Given the description of an element on the screen output the (x, y) to click on. 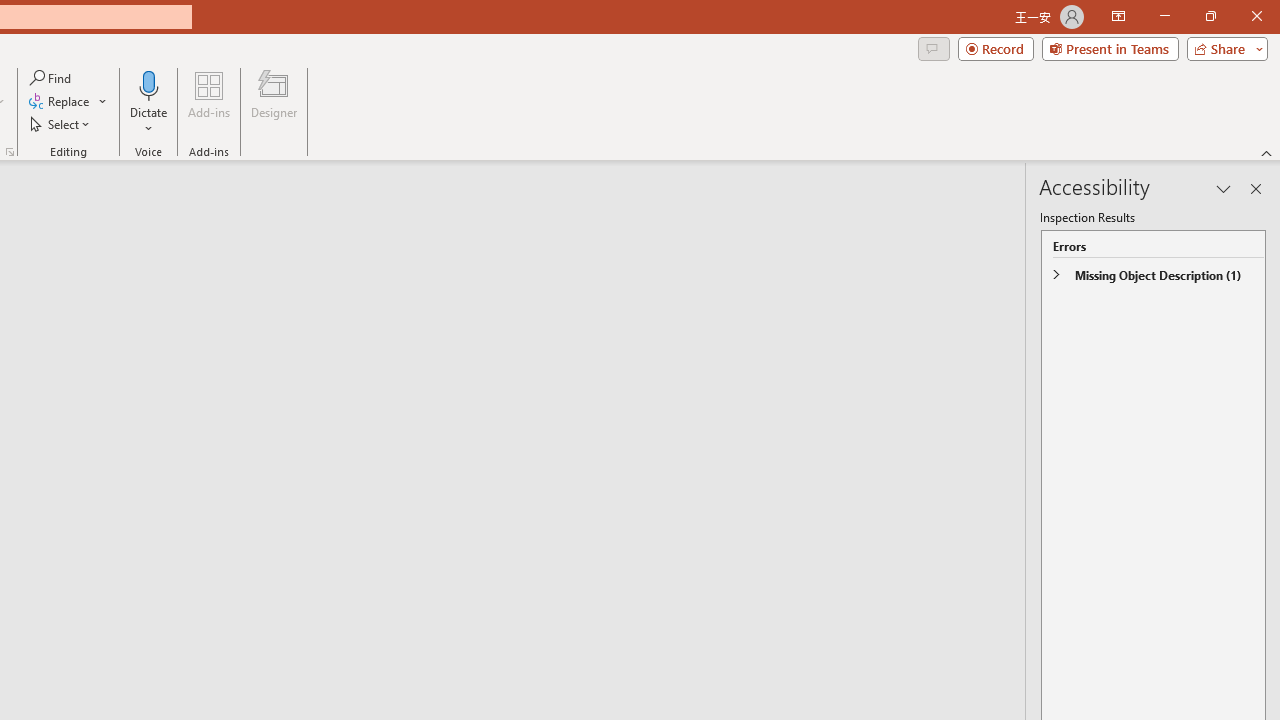
Select (61, 124)
Format Object... (9, 151)
Find... (51, 78)
